Given the description of an element on the screen output the (x, y) to click on. 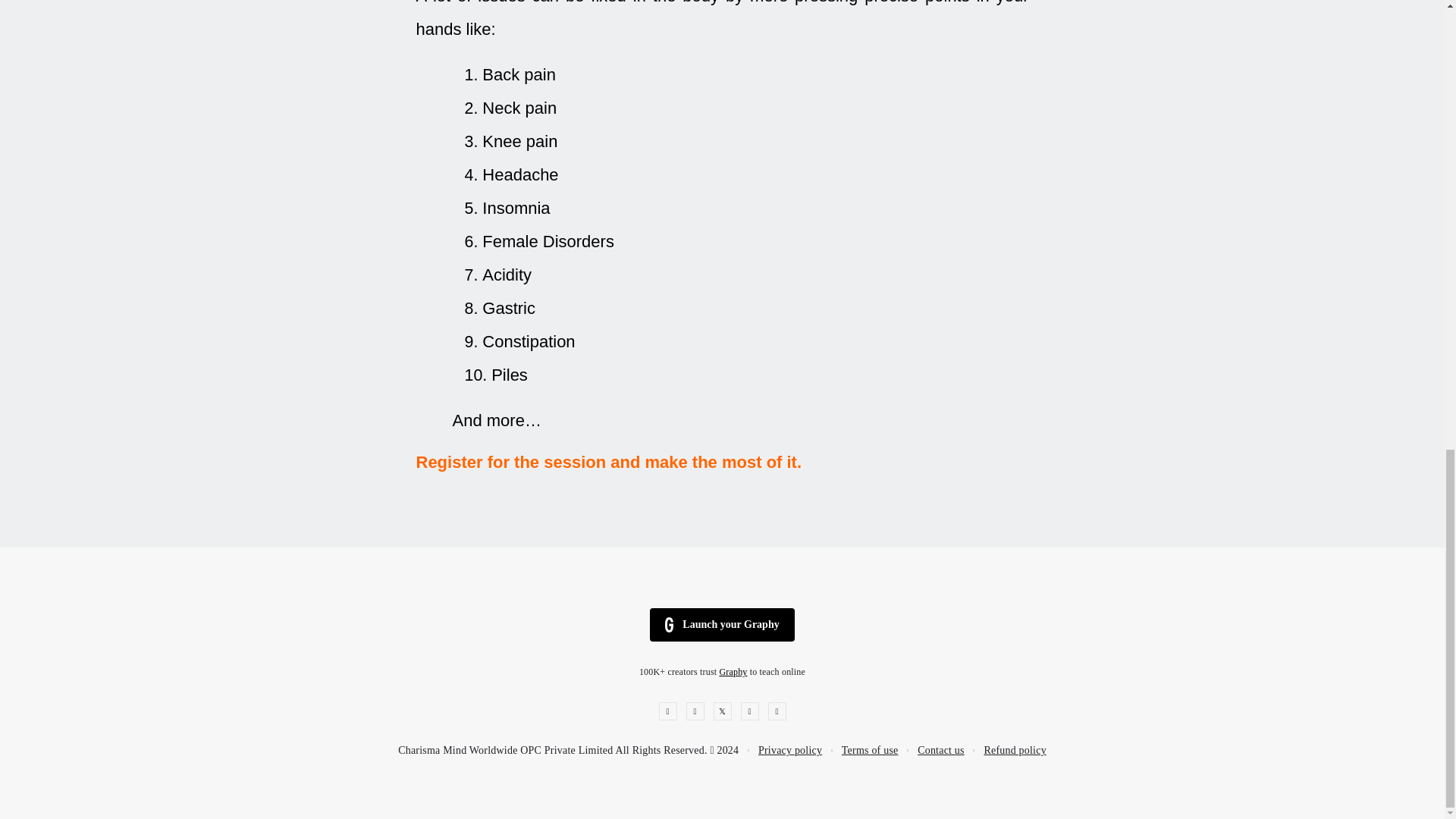
Terms of use (869, 750)
Privacy policy (790, 750)
Graphy (732, 671)
Launch your Graphy (721, 624)
Contact us (940, 750)
Register for the session and make the most of it. (608, 462)
Refund policy (1014, 750)
